Given the description of an element on the screen output the (x, y) to click on. 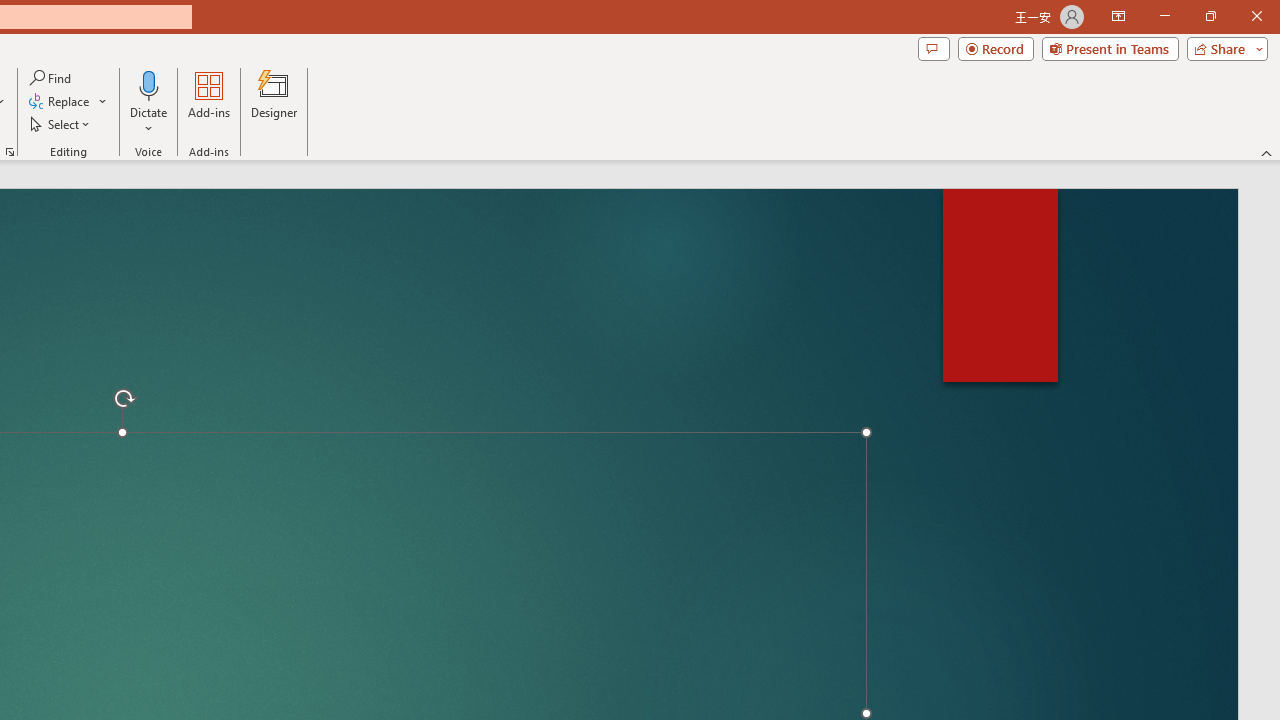
Format Object... (9, 151)
Replace... (60, 101)
